Given the description of an element on the screen output the (x, y) to click on. 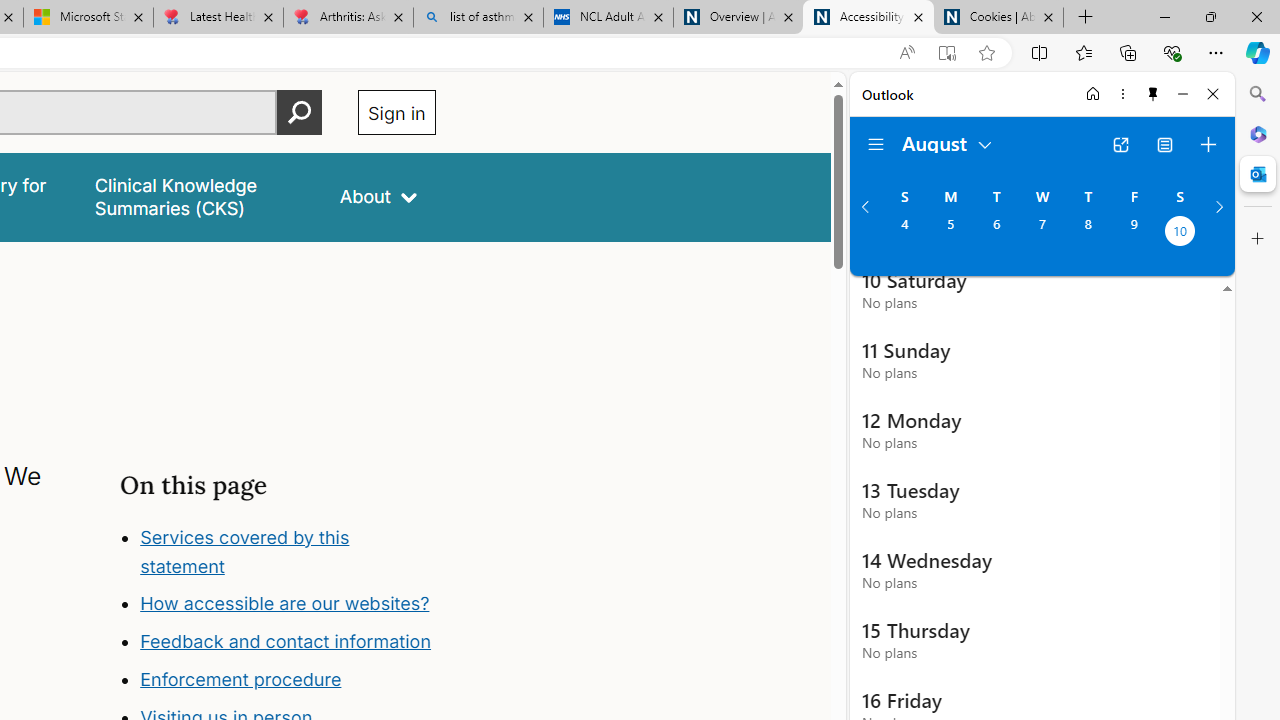
Enter Immersive Reader (F9) (946, 53)
Perform search (299, 112)
Friday, August 9, 2024.  (1134, 233)
Close Customize pane (1258, 239)
Thursday, August 8, 2024.  (1088, 233)
Sign in (396, 112)
Folder navigation (876, 144)
Services covered by this statement (244, 551)
Unpin side pane (1153, 93)
